Given the description of an element on the screen output the (x, y) to click on. 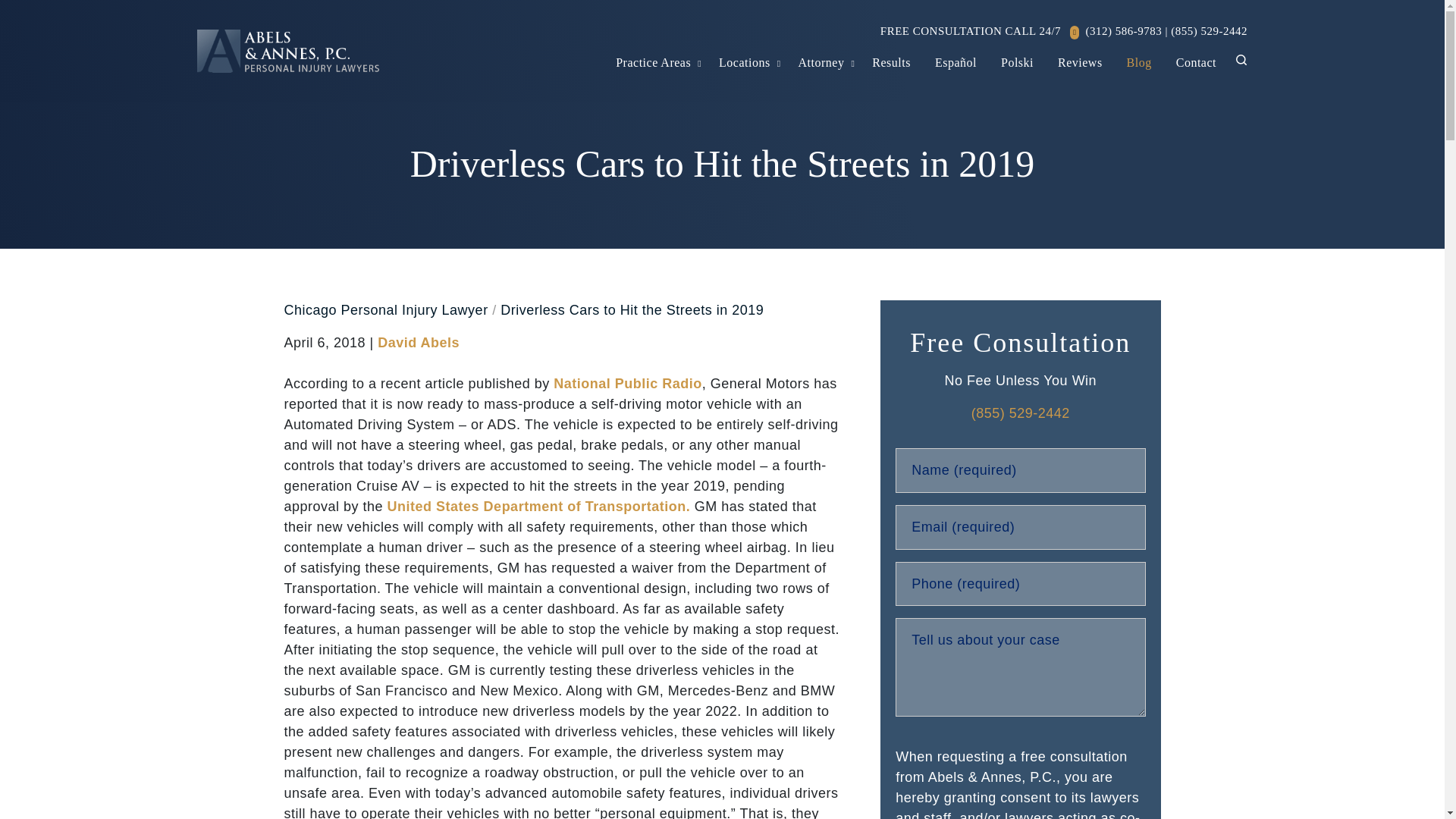
Practice Areas (653, 61)
Locations (744, 61)
Practice Areas (699, 62)
Attorney (821, 62)
Contact (1195, 61)
David Abels (418, 342)
Blog (1139, 61)
Chicago Personal Injury Lawyer (385, 309)
National Public Radio (627, 383)
Locations (744, 61)
Locations (778, 62)
Polski (1016, 61)
Results (891, 61)
Practice Areas (653, 61)
Reviews (1080, 61)
